Given the description of an element on the screen output the (x, y) to click on. 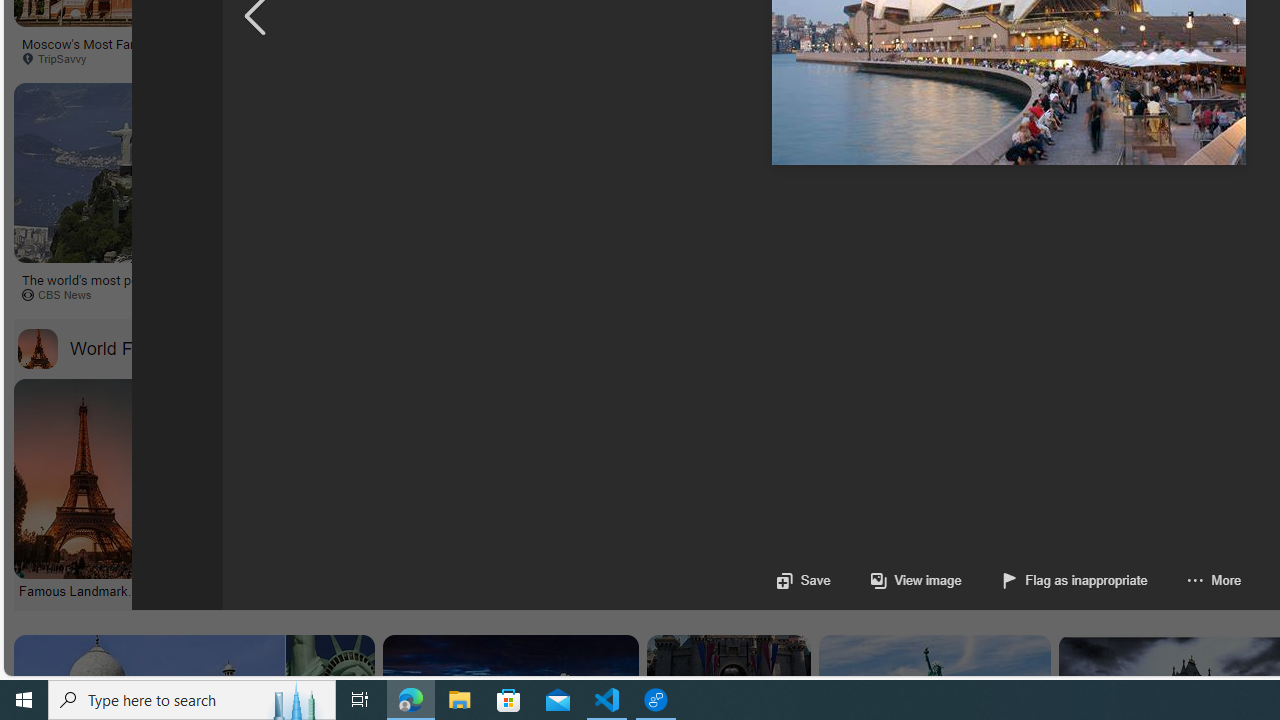
The 10 Most Popular Tourist Attractions In The World - ZOHAL (852, 50)
TripSavvy (1009, 295)
CBS News (620, 294)
familyvacationist.com (524, 58)
World Famous Landmarks (149, 348)
familyvacationist.com (404, 57)
Flag as inappropriate (1054, 580)
mehndidesign.zohal.cc (790, 57)
The world's most popular tourist attractions (700, 286)
mehndidesign.zohal.cc (853, 58)
